Given the description of an element on the screen output the (x, y) to click on. 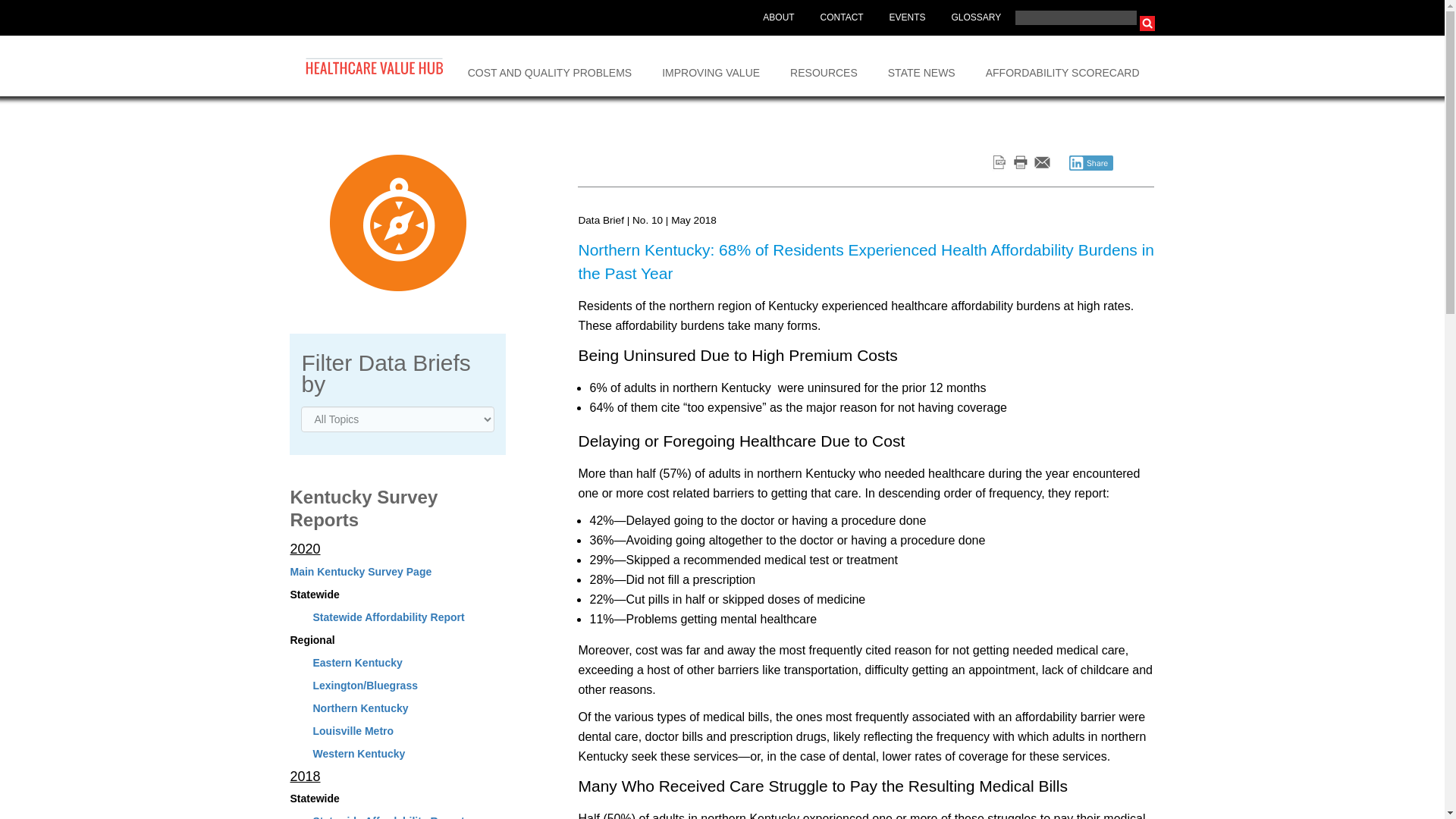
CONTACT (842, 18)
COST AND QUALITY PROBLEMS (549, 66)
EVENTS (907, 18)
GLOSSARY (975, 18)
Western Kentucky (358, 753)
ABOUT (778, 18)
RESOURCES (823, 66)
Statewide Affordability Report (388, 816)
Share (1090, 162)
Eastern Kentucky (357, 662)
